Given the description of an element on the screen output the (x, y) to click on. 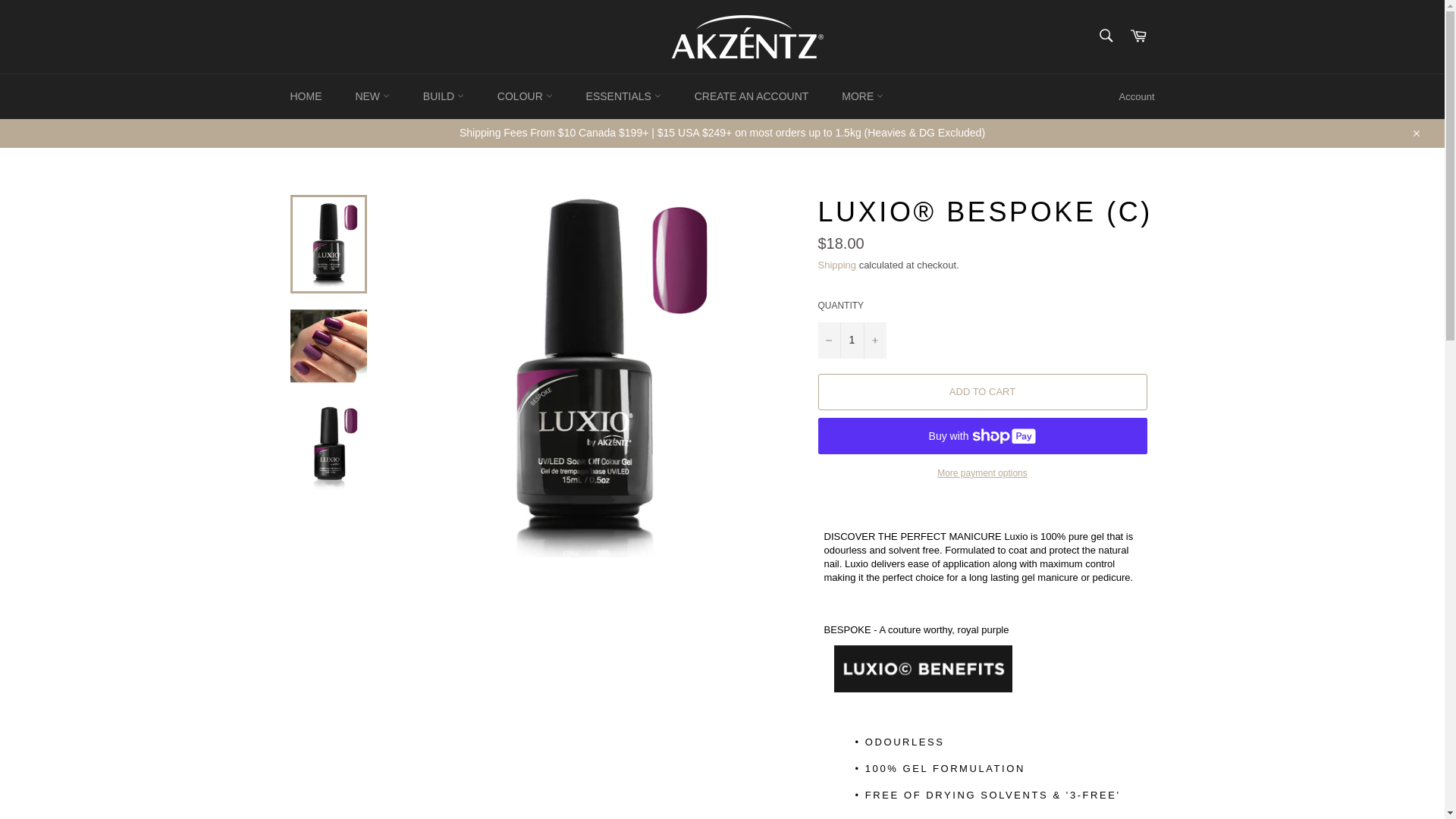
1 (850, 340)
